Given the description of an element on the screen output the (x, y) to click on. 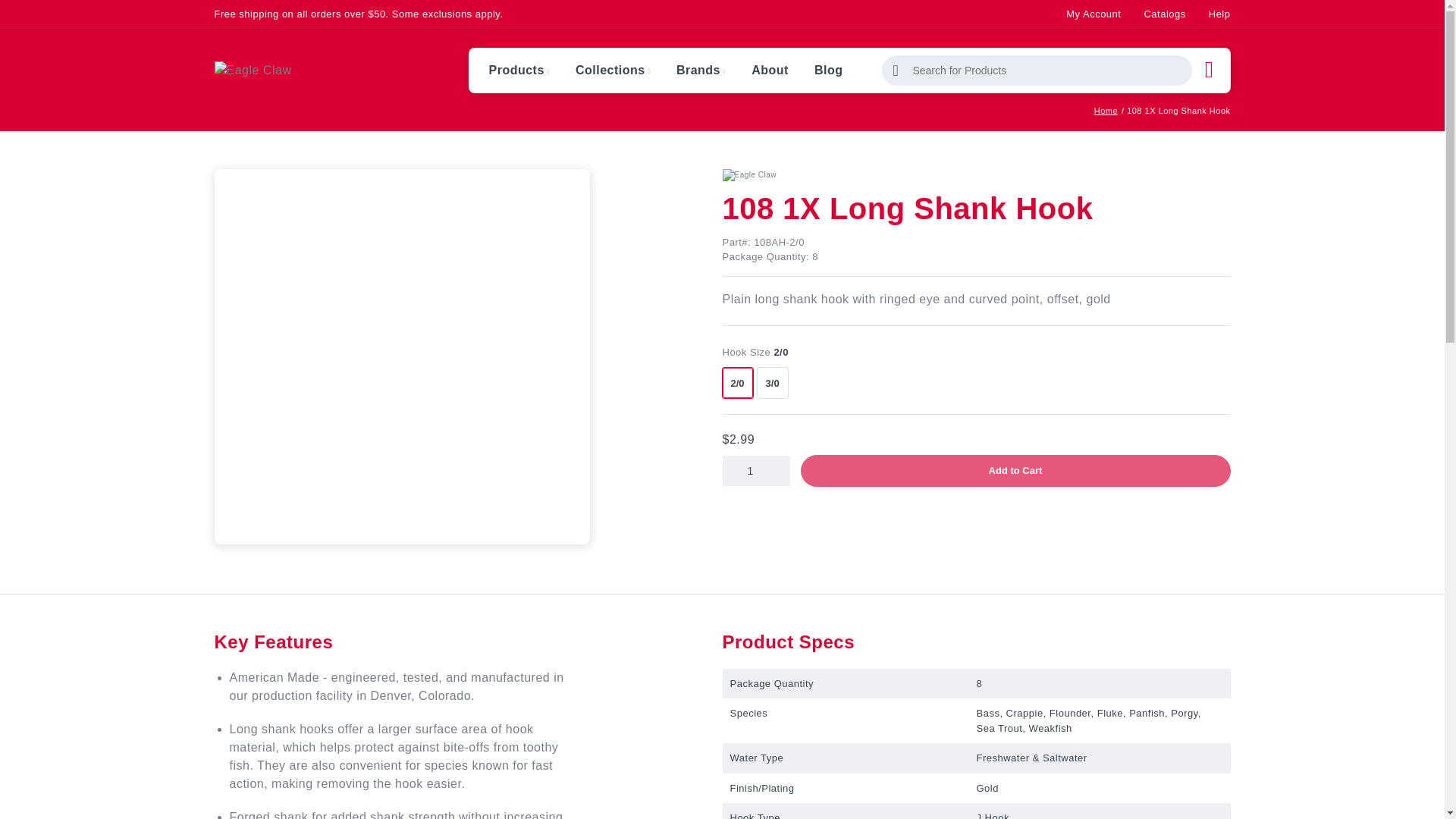
My Account (1093, 14)
Catalogs (1163, 14)
Home (1106, 110)
Help (1219, 14)
1 (755, 470)
